Given the description of an element on the screen output the (x, y) to click on. 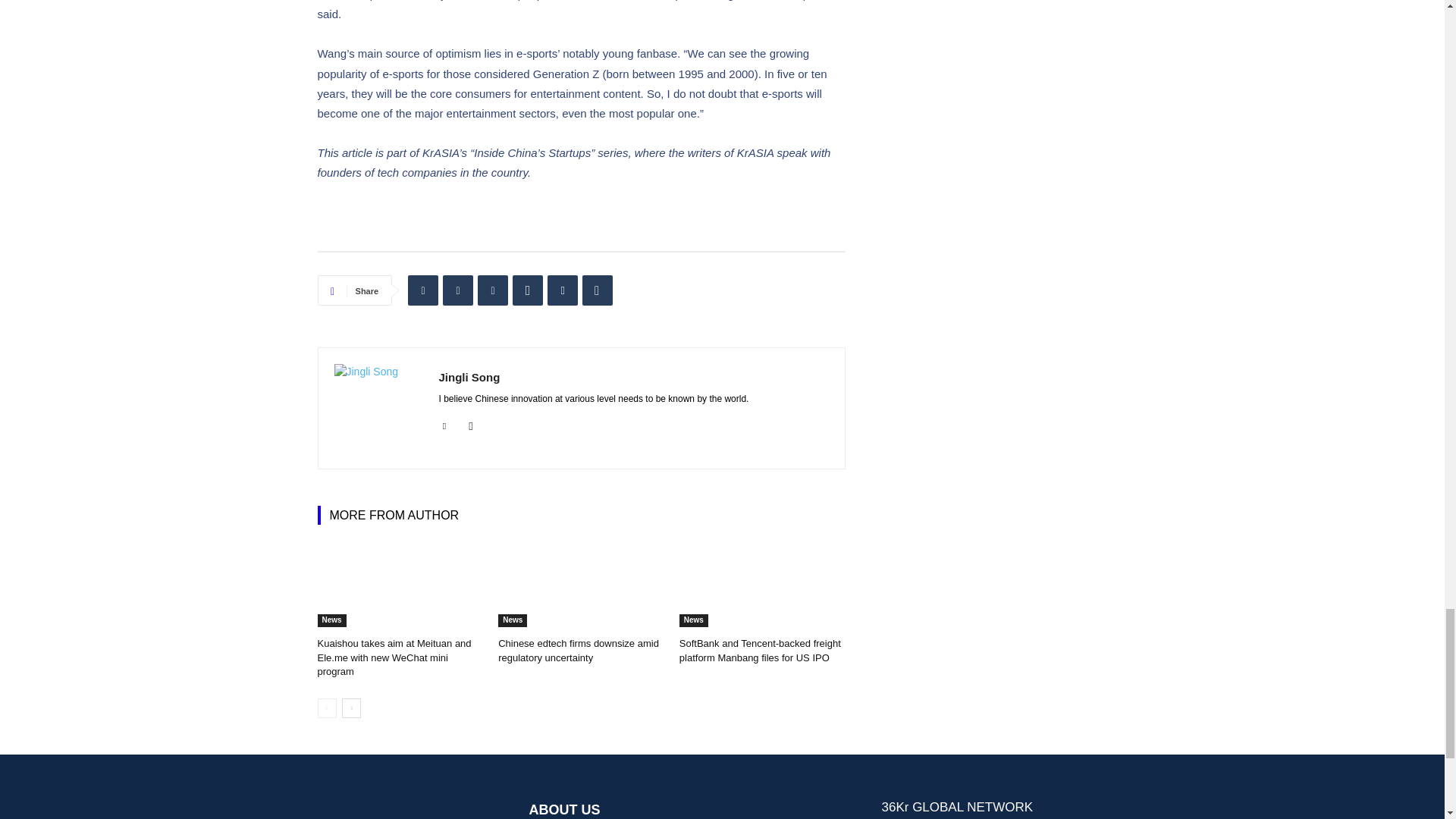
Linkedin (422, 290)
Facebook (492, 290)
WhatsApp (527, 290)
Copy URL (597, 290)
Email (562, 290)
Mail (471, 423)
Jingli Song (377, 407)
Twitter (457, 290)
Linkedin (443, 423)
